Given the description of an element on the screen output the (x, y) to click on. 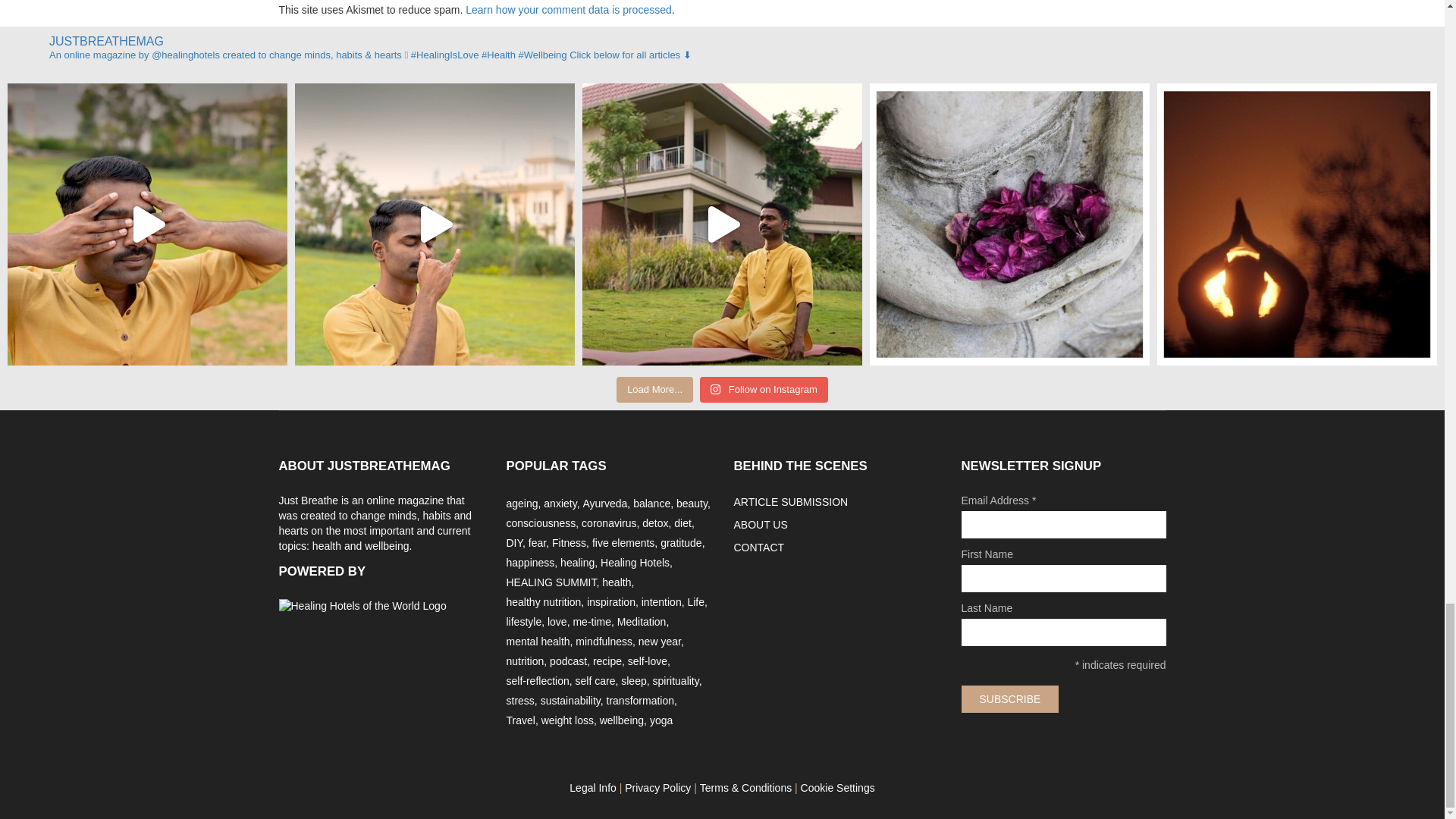
Visit healinghotelsoftheworld.com now ! (362, 606)
